Given the description of an element on the screen output the (x, y) to click on. 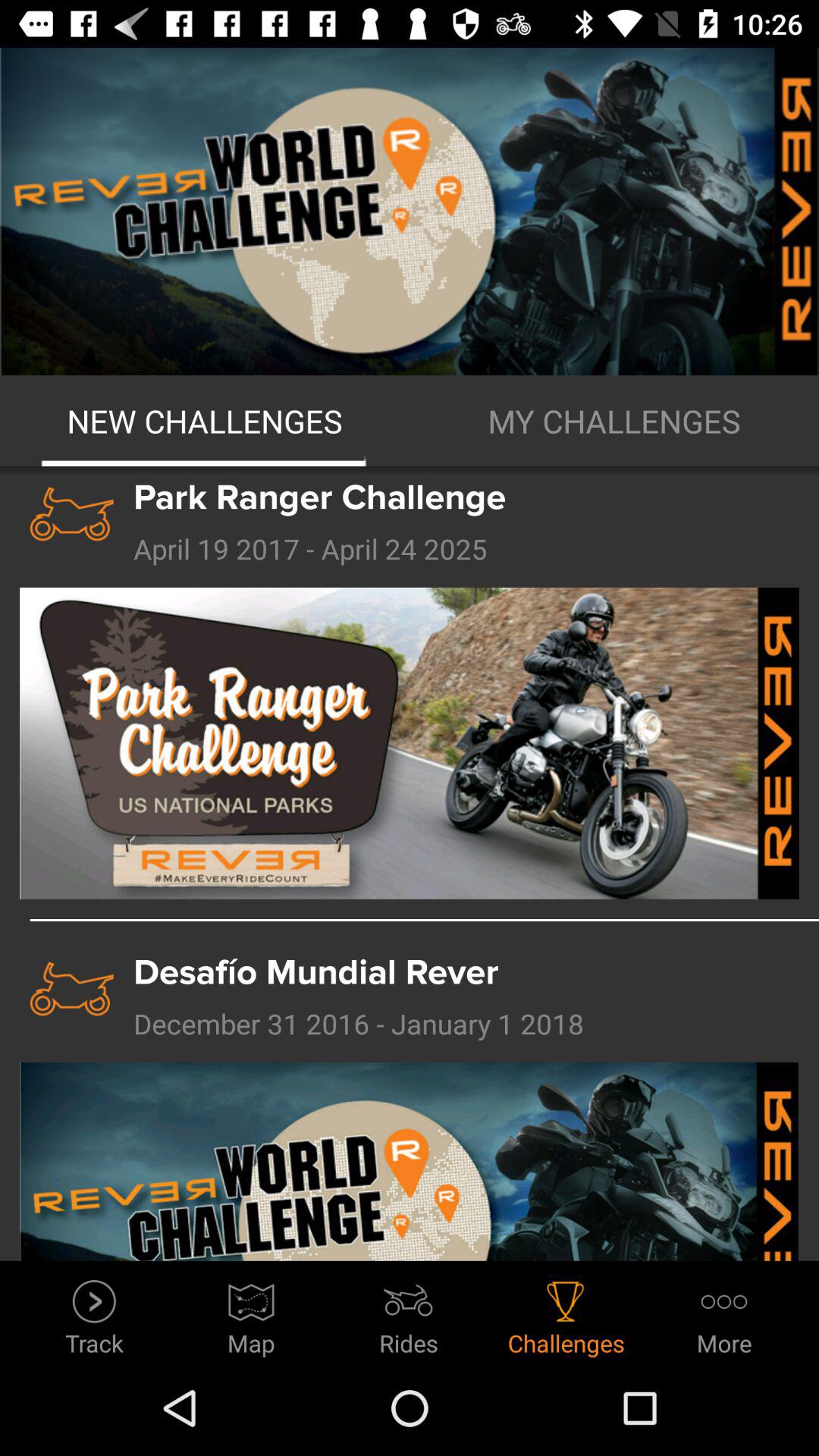
select the map (251, 1313)
